Given the description of an element on the screen output the (x, y) to click on. 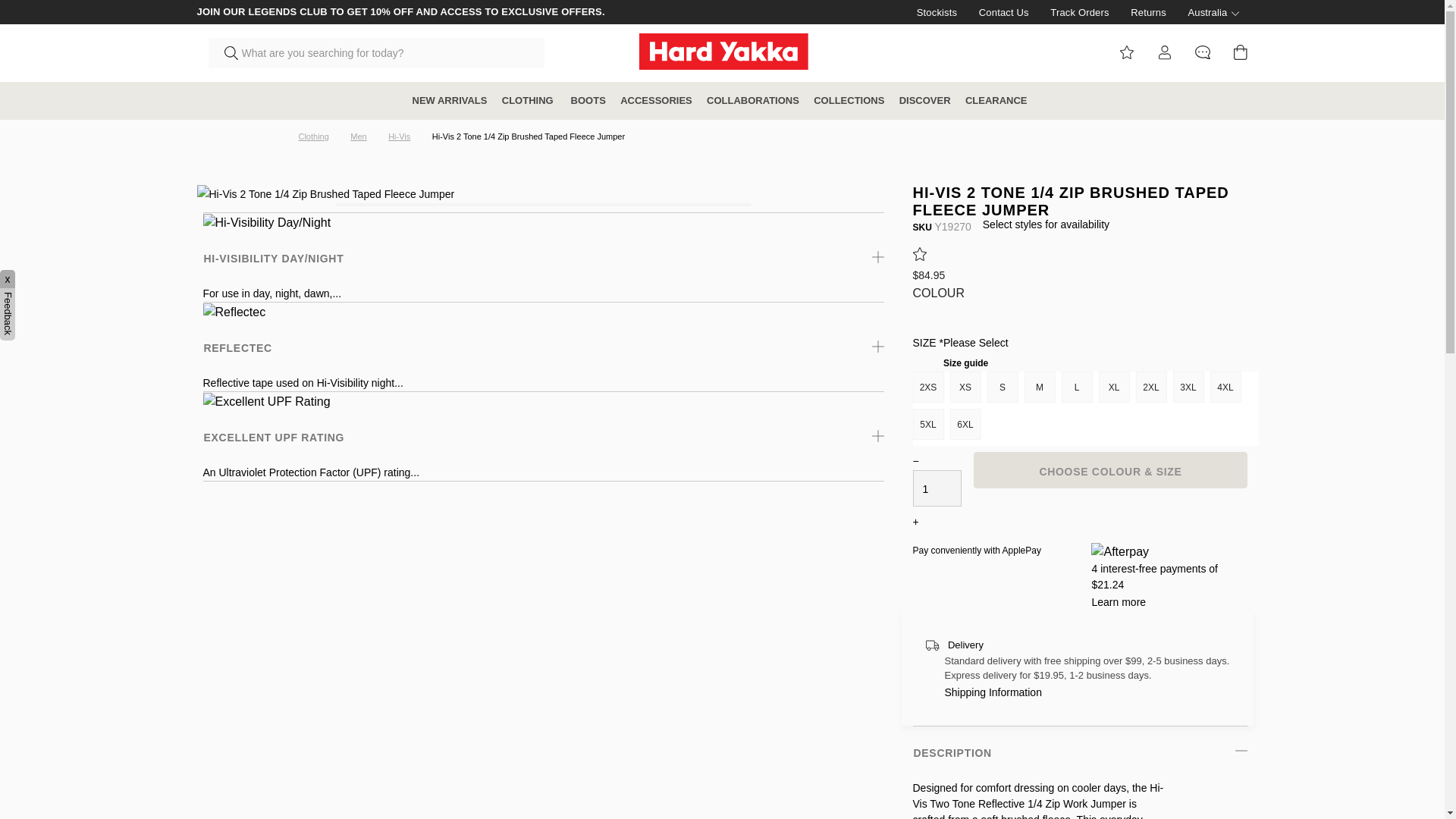
View wishlist (1126, 52)
Contact Us (994, 12)
Australia (1204, 12)
contact us (1202, 52)
Go to stockist (927, 12)
Contact Us (994, 12)
Go to Shop New Arrivals (451, 100)
1 (936, 488)
Returns (1139, 12)
Cart 0 Items (1240, 52)
